Given the description of an element on the screen output the (x, y) to click on. 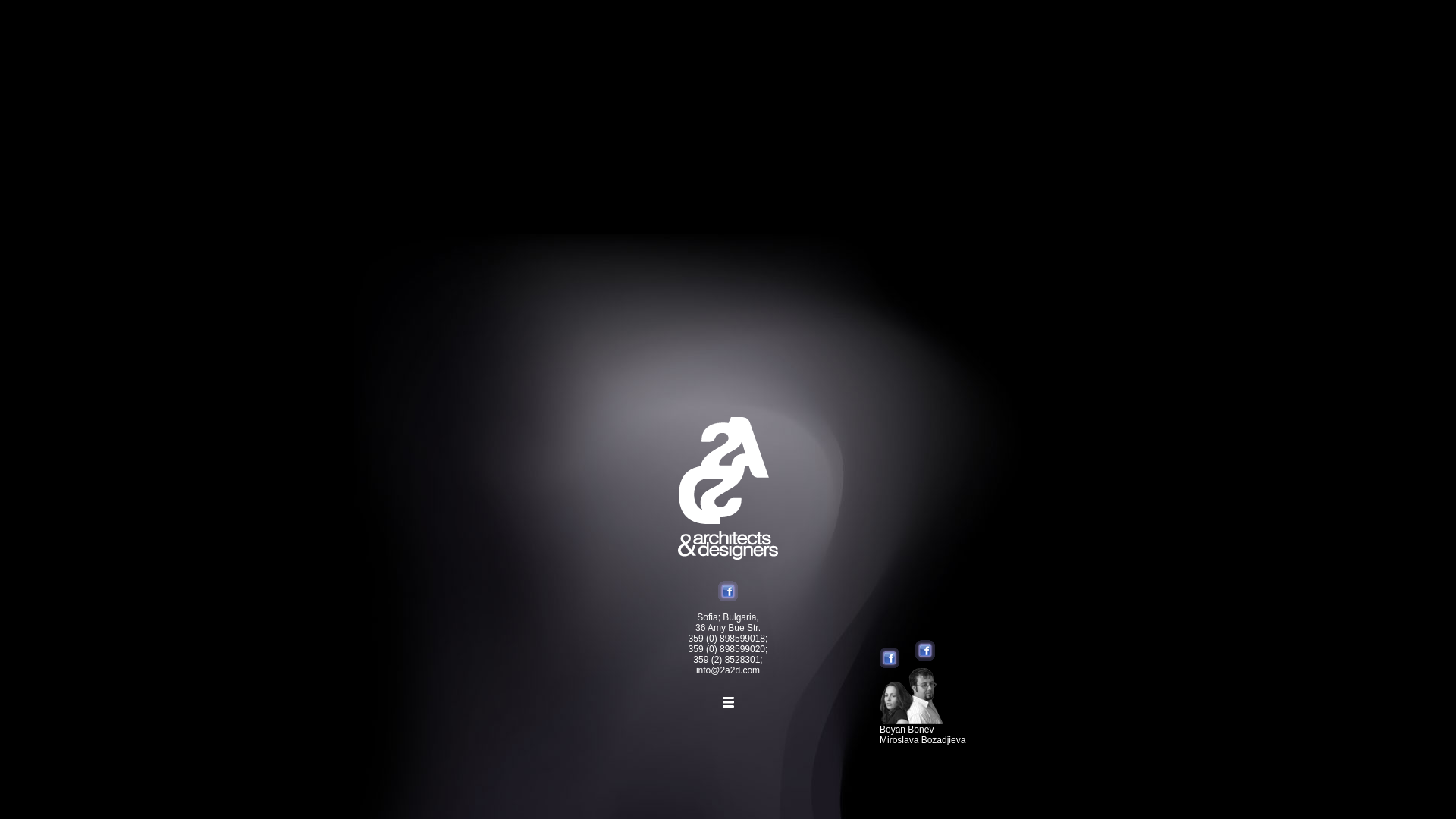
info@2a2d.com Element type: text (727, 670)
